Given the description of an element on the screen output the (x, y) to click on. 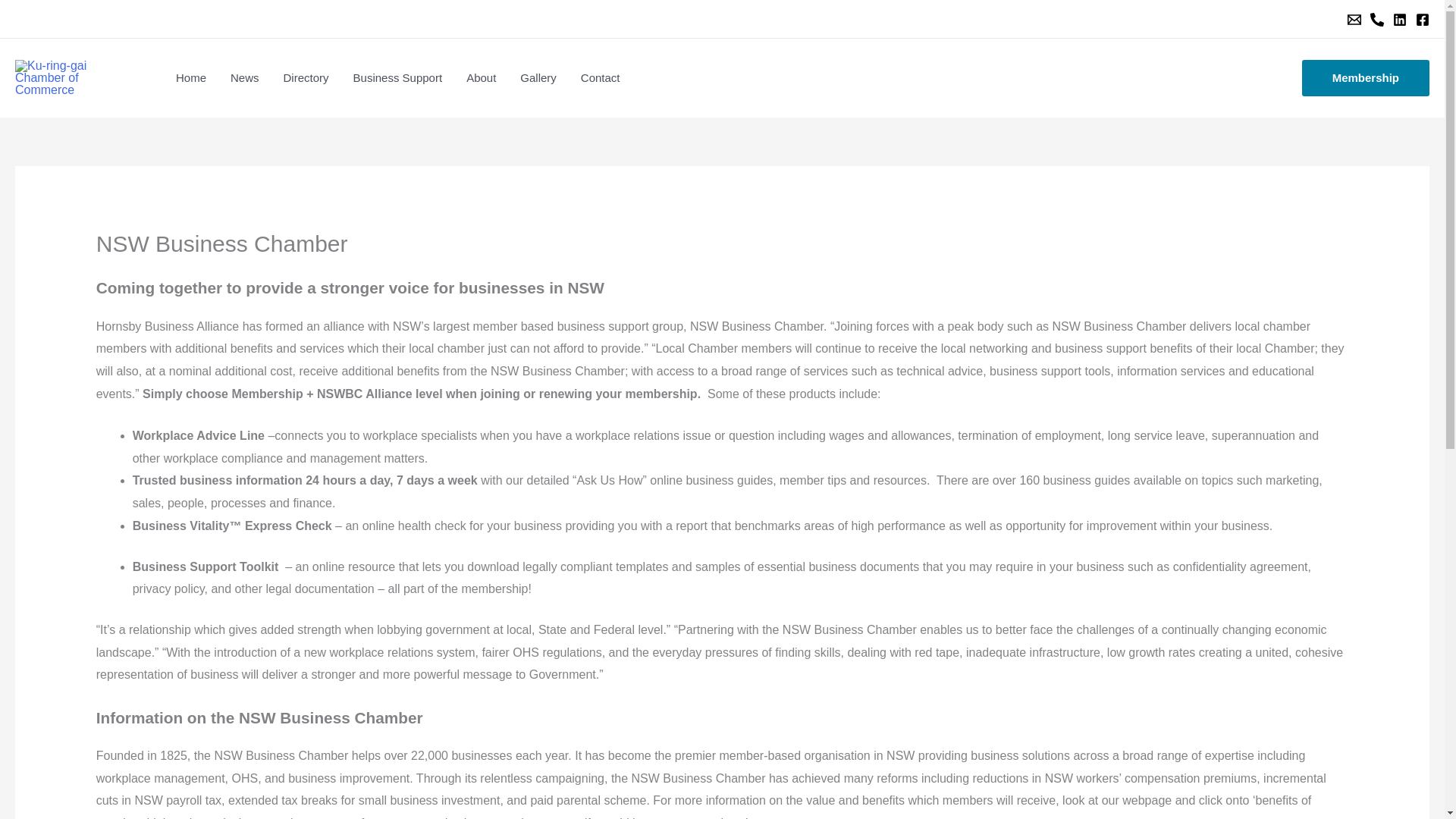
About (481, 77)
Home (190, 77)
Contact (600, 77)
Directory (305, 77)
Business Support (397, 77)
Membership (1365, 77)
Gallery (538, 77)
News (244, 77)
